Given the description of an element on the screen output the (x, y) to click on. 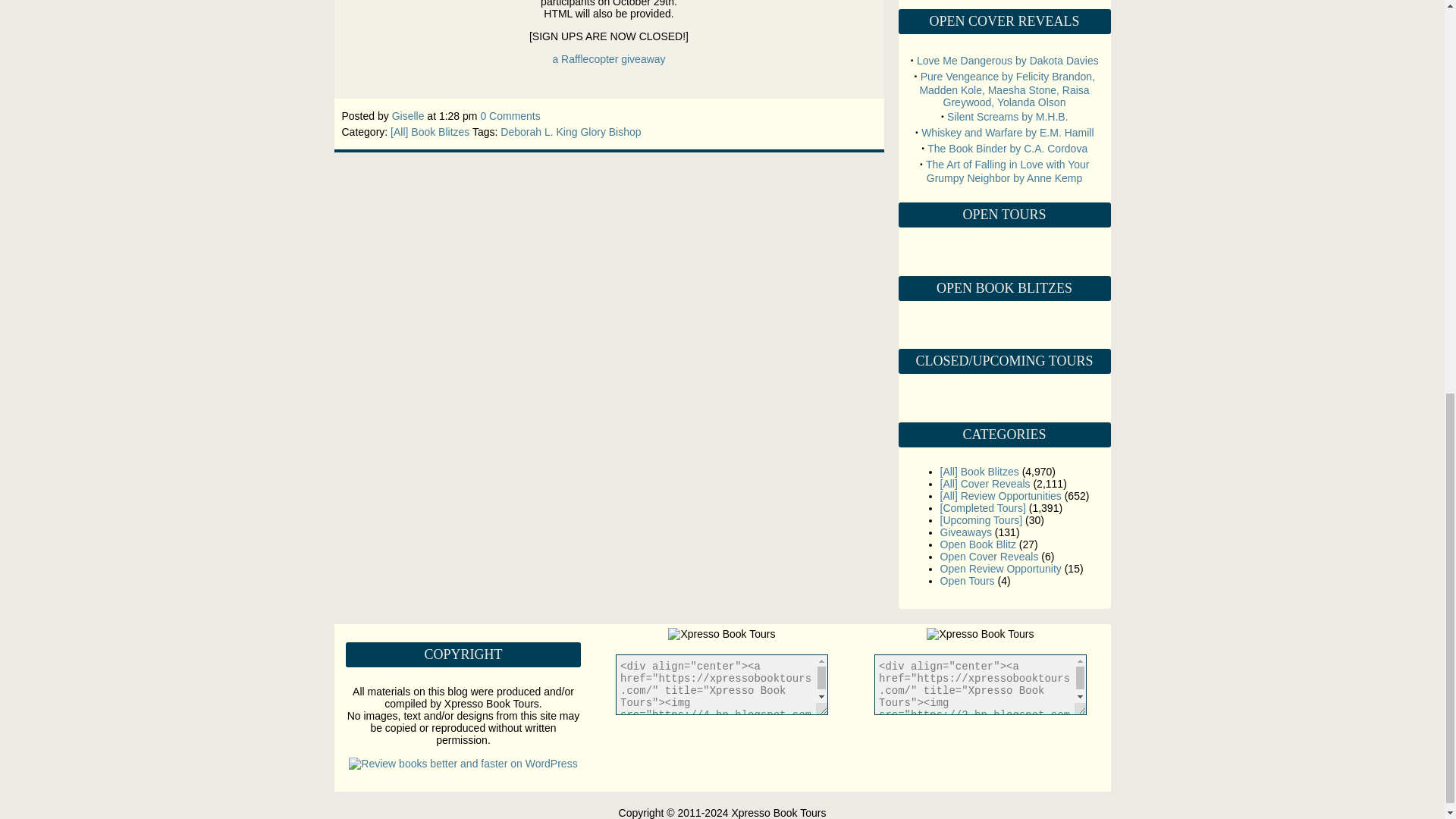
View all posts filed under Open Book Blitz (978, 544)
View all posts filed under Giveaways (965, 532)
Xpresso Book Tours (979, 633)
Deborah L. King (538, 132)
Review books better and faster on WordPress (462, 763)
Glory Bishop (609, 132)
Xpresso Book Tours (721, 633)
View all posts filed under Open Cover Reveals (989, 556)
Posts by Giselle (408, 115)
a Rafflecopter giveaway (608, 59)
View all posts filed under Open Tours (967, 580)
View all posts filed under Open Review Opportunity (1000, 568)
Giselle (408, 115)
0 Comments (510, 115)
